Given the description of an element on the screen output the (x, y) to click on. 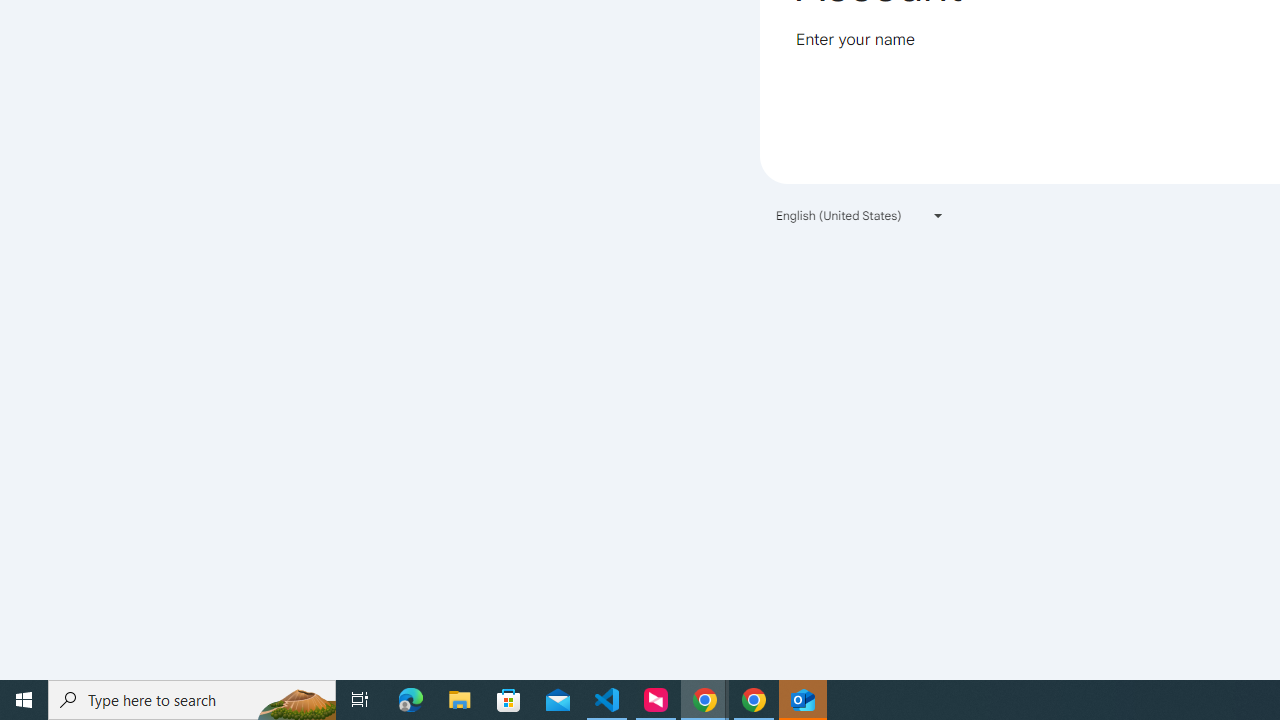
English (United States) (860, 214)
